Given the description of an element on the screen output the (x, y) to click on. 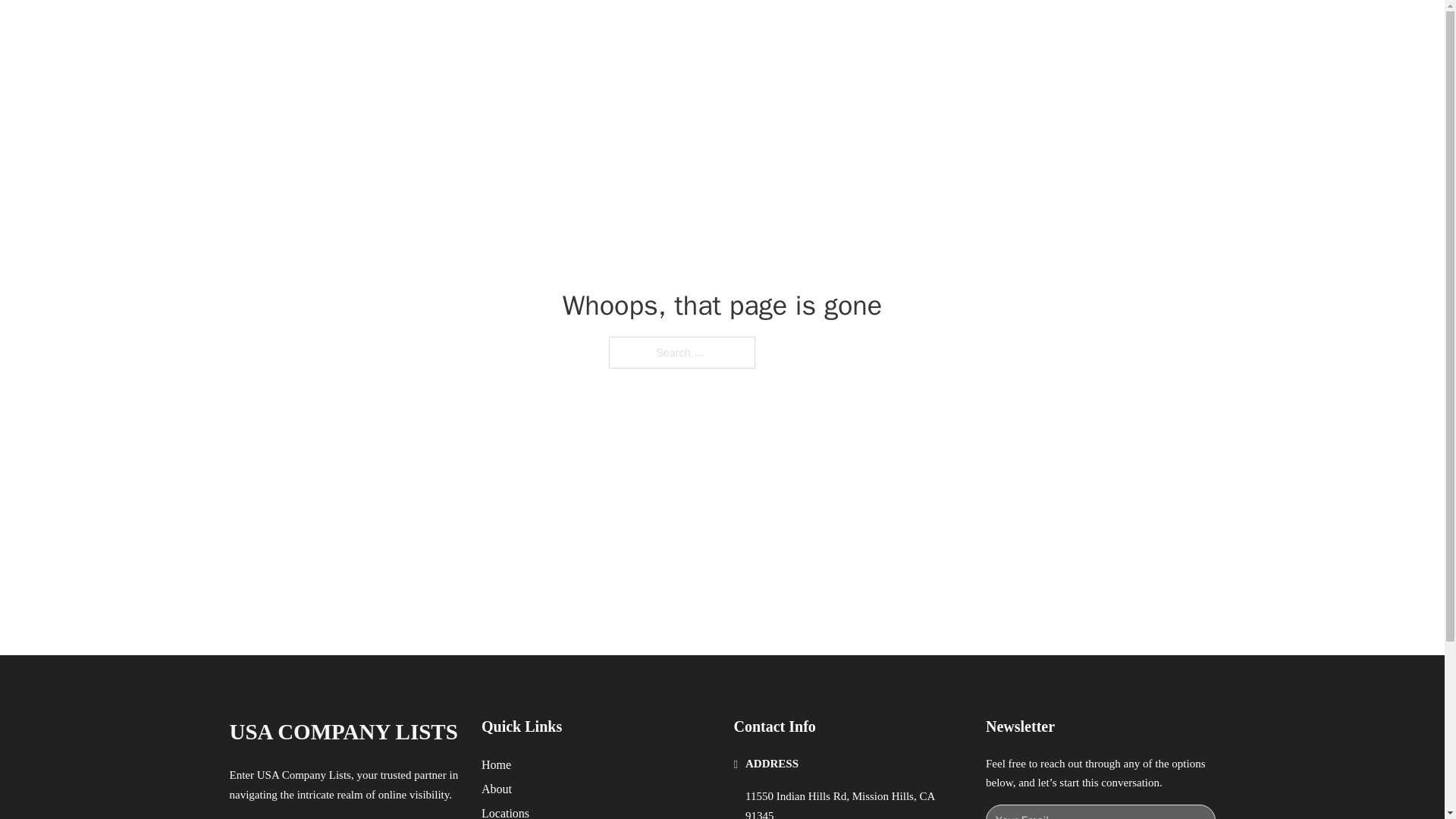
Home (496, 764)
About (496, 788)
USA COMPANY LISTS (342, 732)
HOME (919, 29)
Locations (505, 811)
LOCATIONS (990, 29)
USA COMPANY LISTS (416, 28)
